Given the description of an element on the screen output the (x, y) to click on. 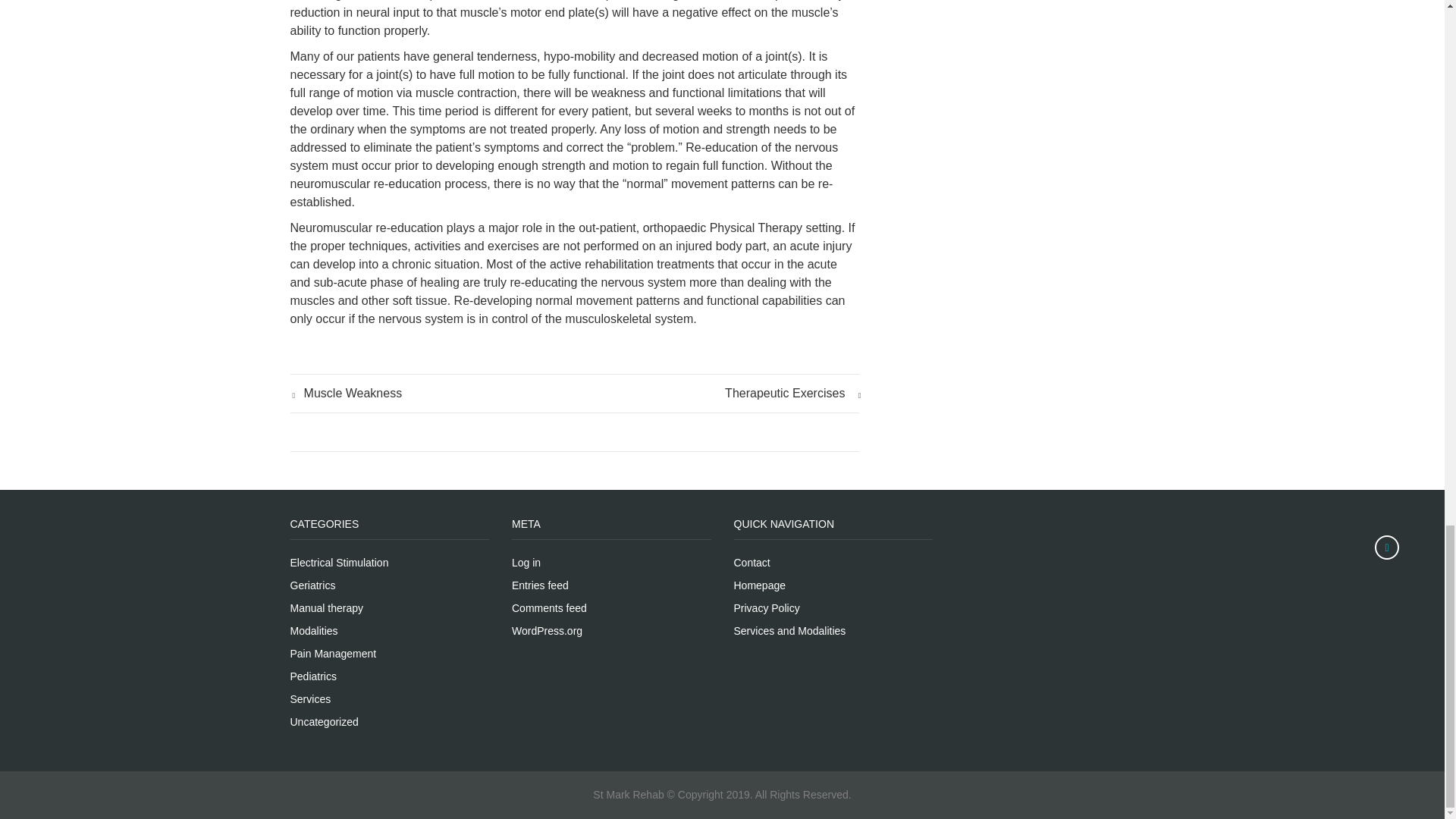
Modalities (313, 630)
Services (309, 698)
Muscle Weakness (345, 393)
Comments feed (549, 607)
Therapeutic Exercises (792, 393)
Pain Management (332, 653)
Log in (526, 562)
Pediatrics (312, 676)
Geriatrics (311, 585)
Entries feed (540, 585)
Uncategorized (323, 721)
Manual therapy (325, 607)
Electrical Stimulation (338, 562)
